Given the description of an element on the screen output the (x, y) to click on. 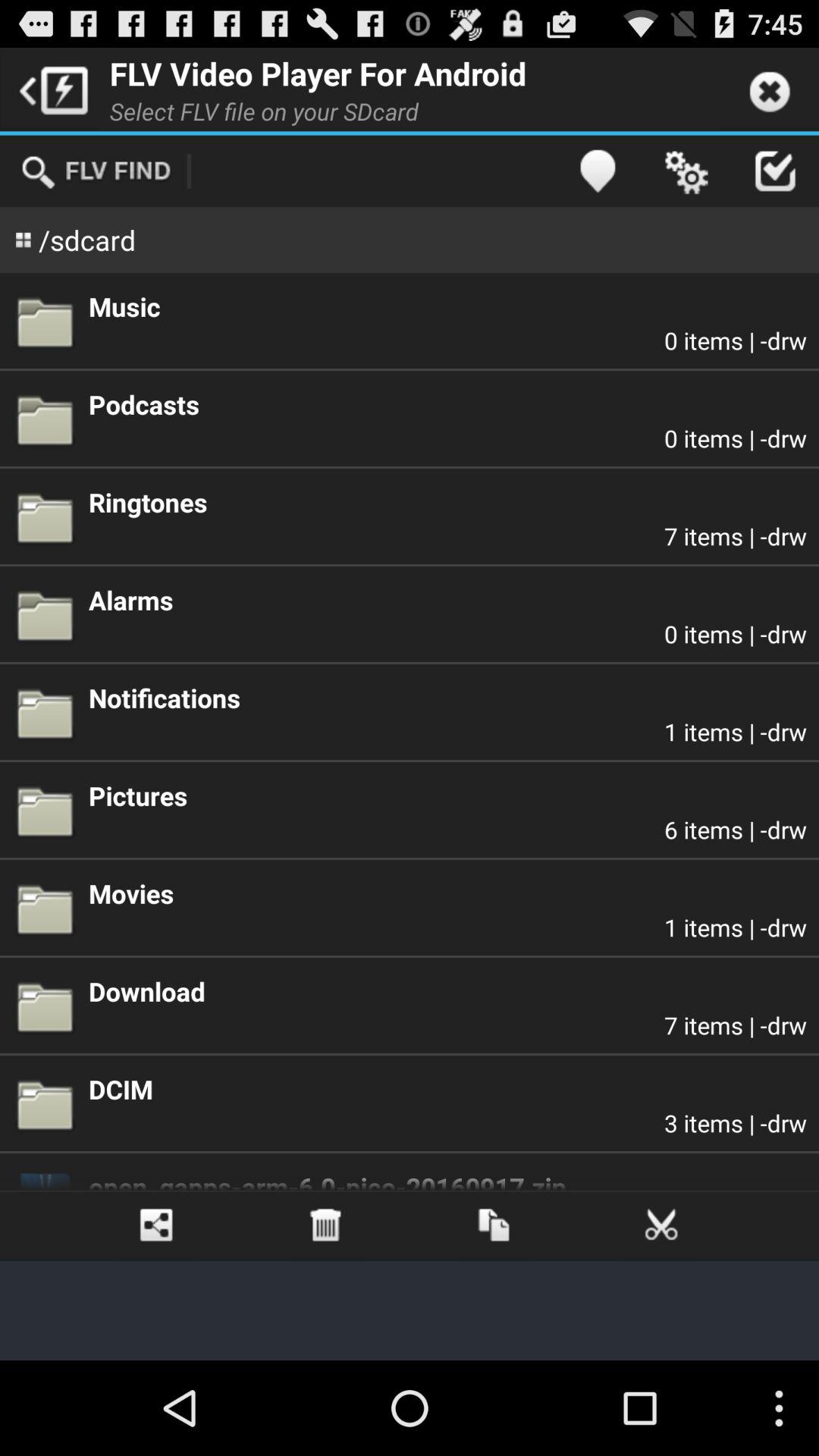
jump to the download icon (447, 990)
